Given the description of an element on the screen output the (x, y) to click on. 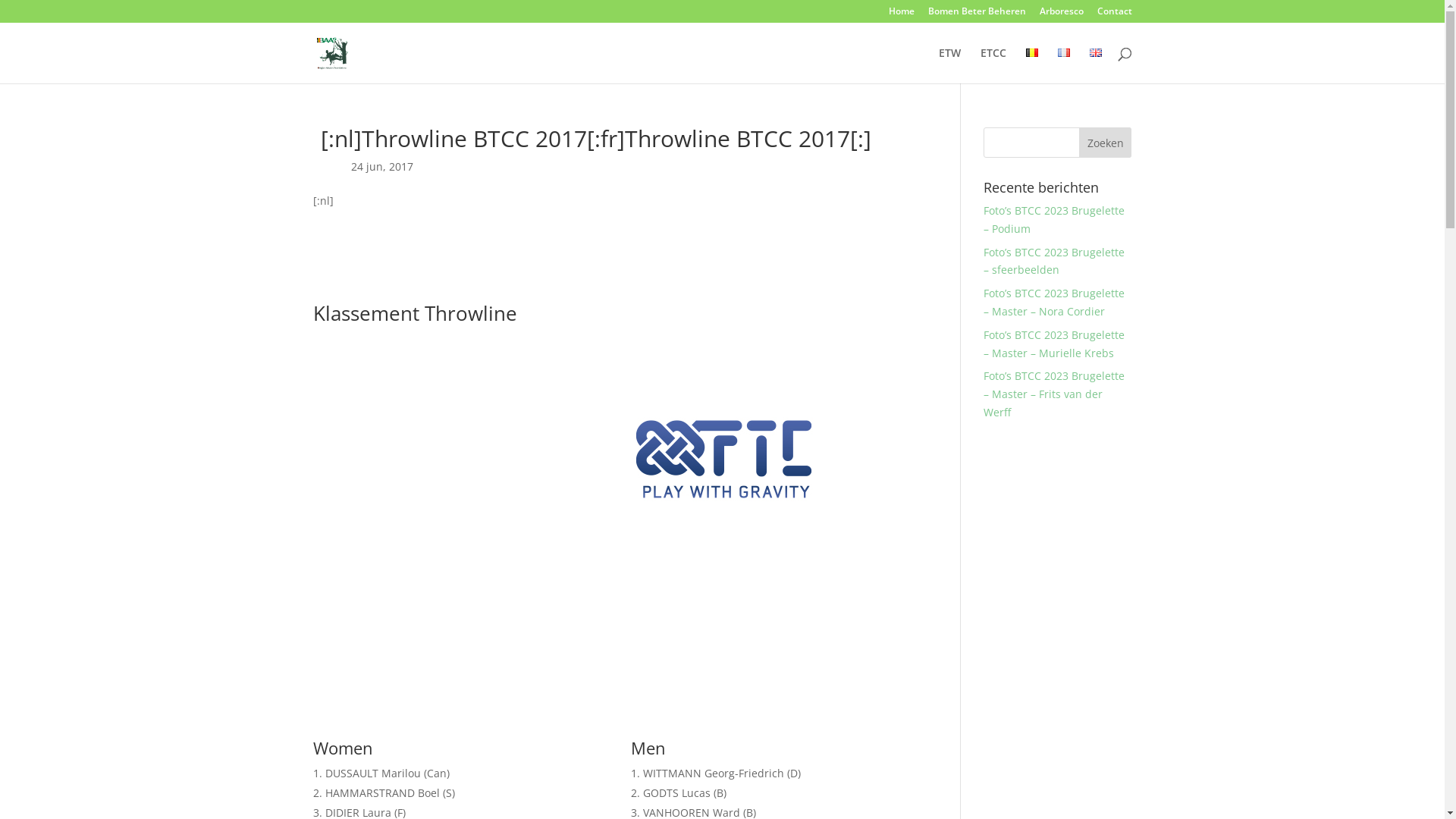
ETCC Element type: text (992, 65)
ETW Element type: text (949, 65)
Home Element type: text (901, 14)
Zoeken Element type: text (1105, 142)
Bomen Beter Beheren Element type: text (977, 14)
Contact Element type: text (1113, 14)
Arboresco Element type: text (1060, 14)
